Given the description of an element on the screen output the (x, y) to click on. 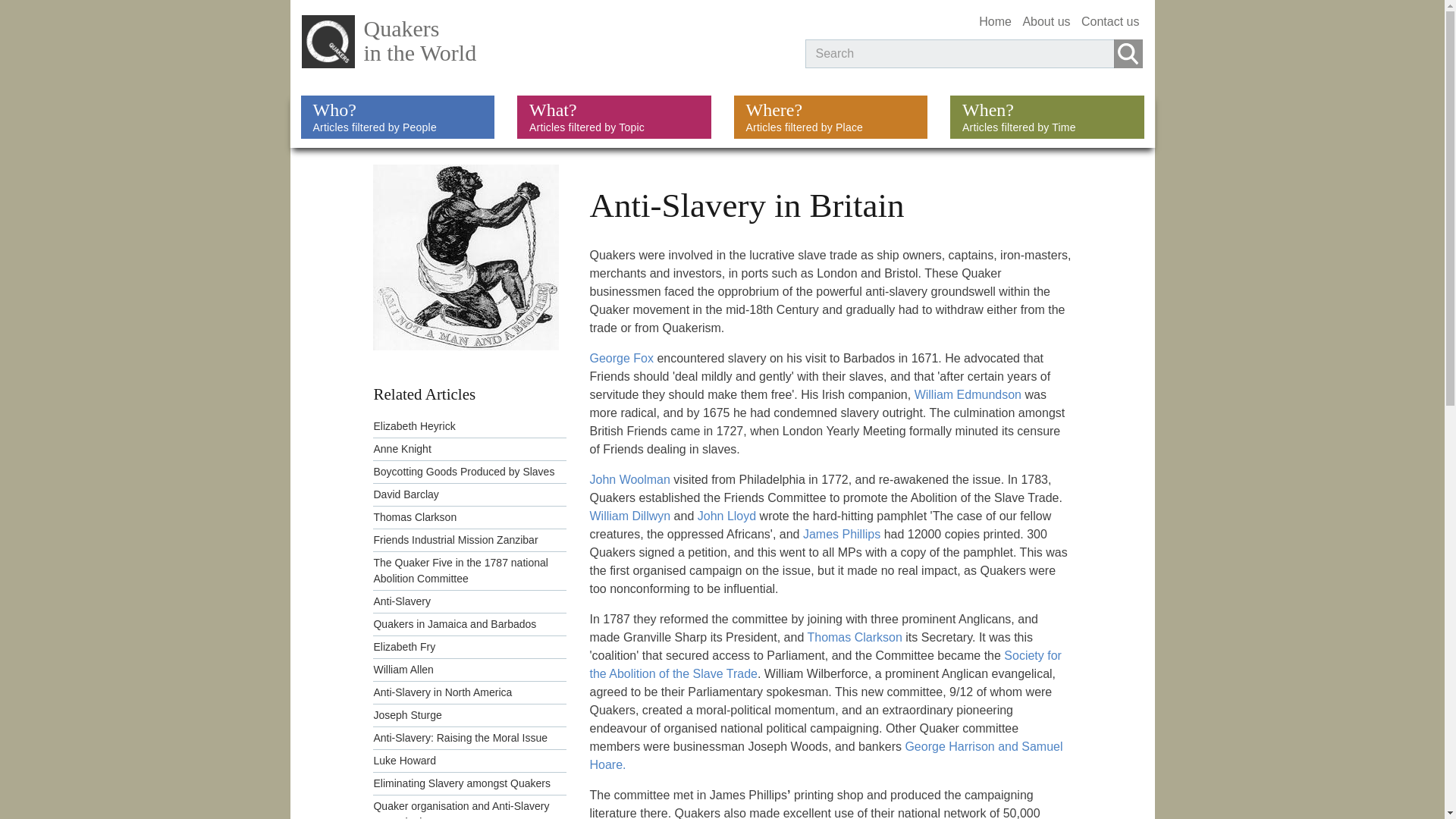
About us (1046, 21)
Home (994, 21)
Contact us (542, 45)
